Given the description of an element on the screen output the (x, y) to click on. 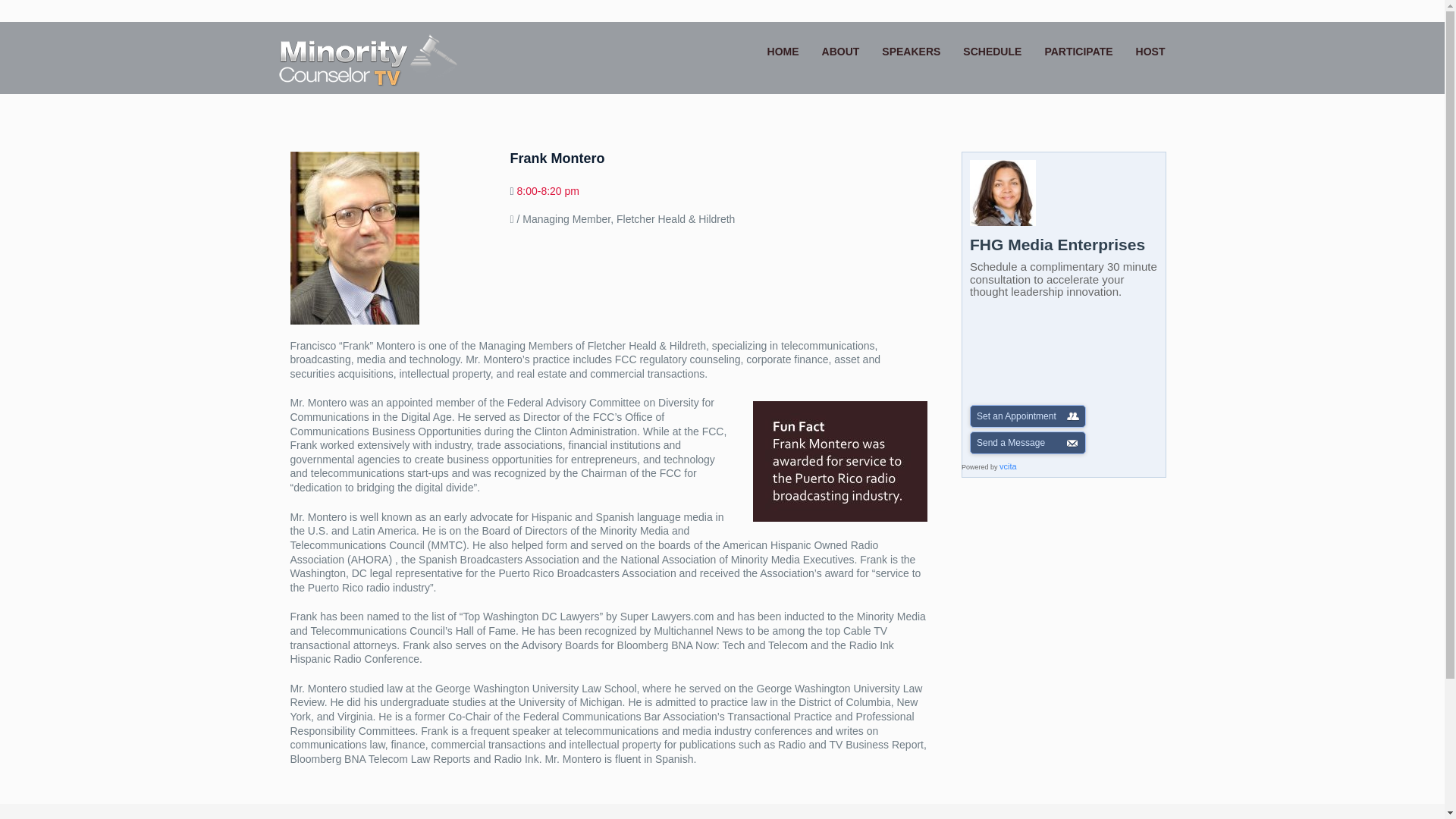
PARTICIPATE (1078, 51)
HOST (1150, 51)
SCHEDULE (992, 51)
HOME (782, 51)
LITE Talks (369, 59)
SPEAKERS (911, 51)
ABOUT (840, 51)
